Given the description of an element on the screen output the (x, y) to click on. 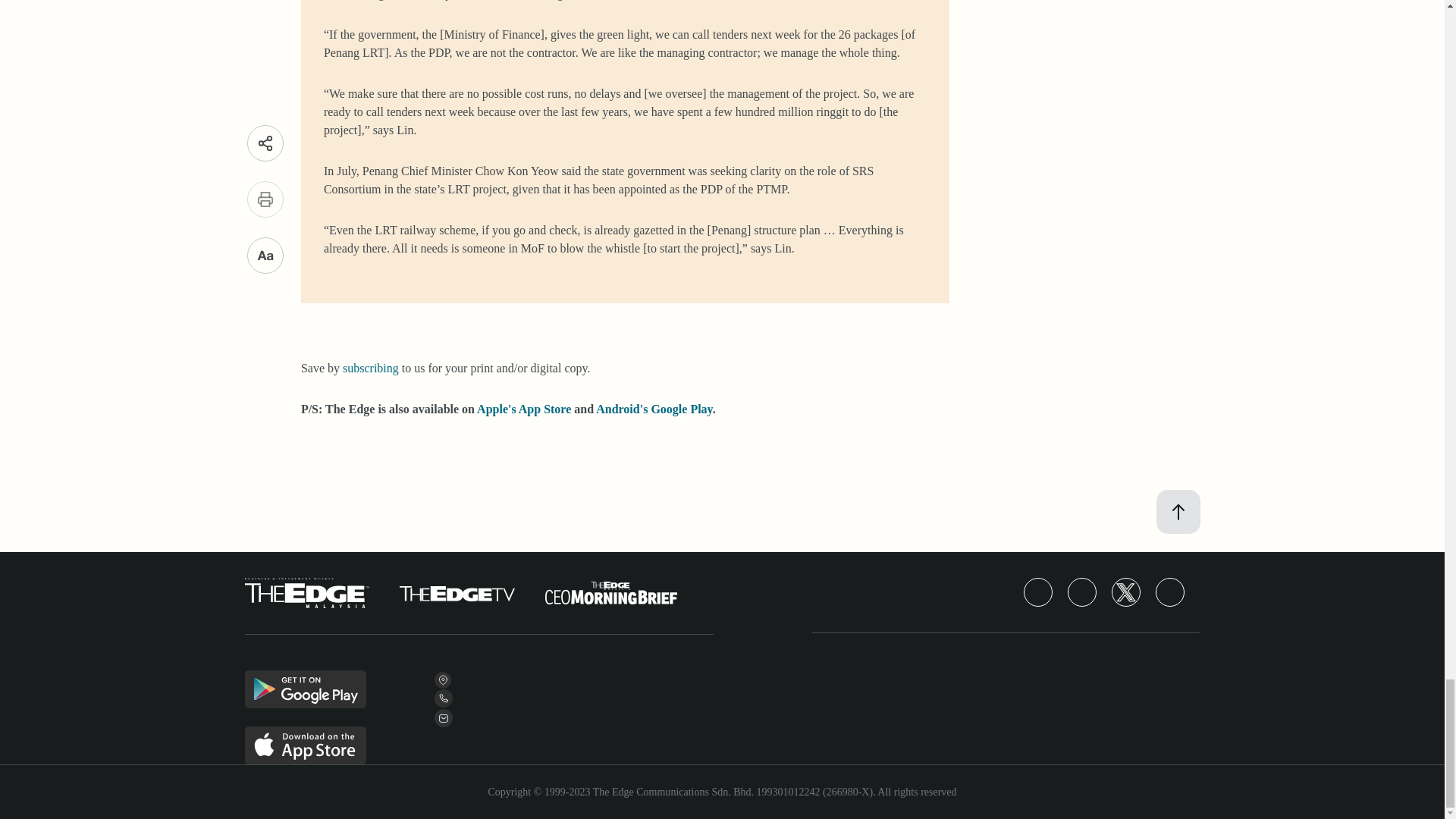
Android's Google Play (654, 408)
Apple's App Store (523, 408)
subscribing (370, 367)
